Given the description of an element on the screen output the (x, y) to click on. 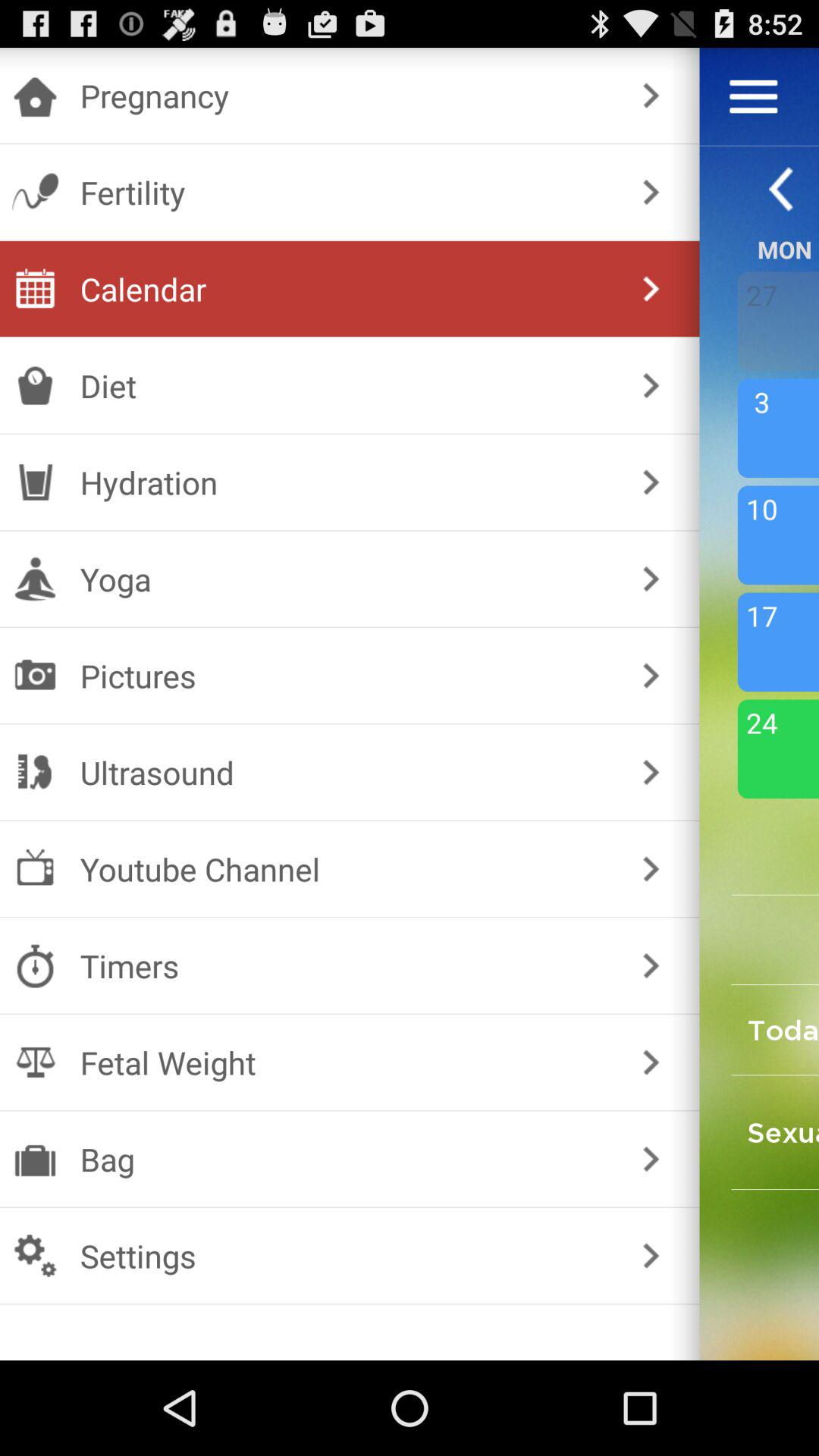
open icon below pictures checkbox (346, 771)
